Given the description of an element on the screen output the (x, y) to click on. 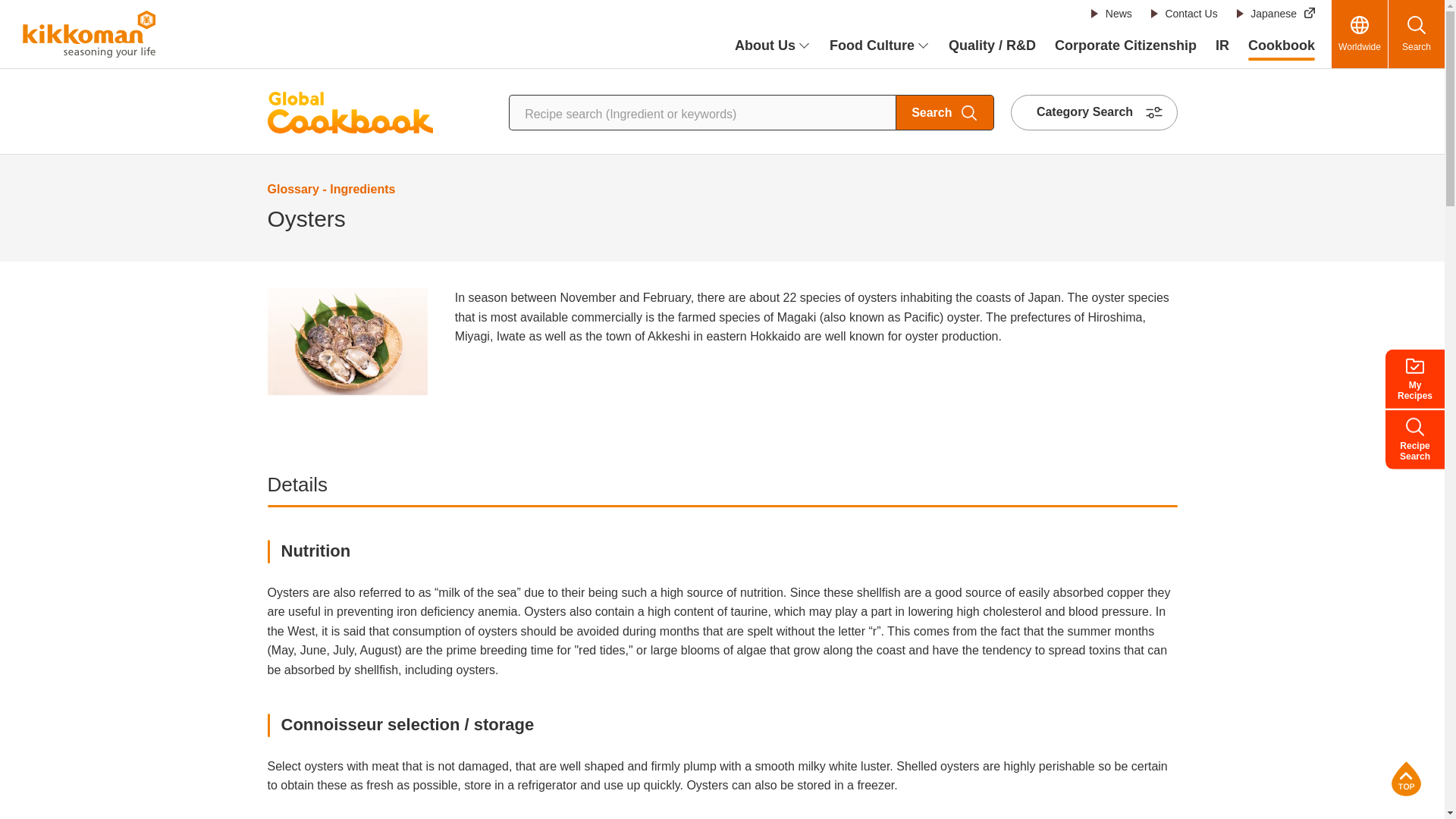
Food Culture (879, 45)
Japanese (1275, 13)
About Us (772, 45)
Cookbook (1280, 45)
Corporate Citizenship (1125, 45)
Contact Us (1183, 13)
News (1111, 13)
